Given the description of an element on the screen output the (x, y) to click on. 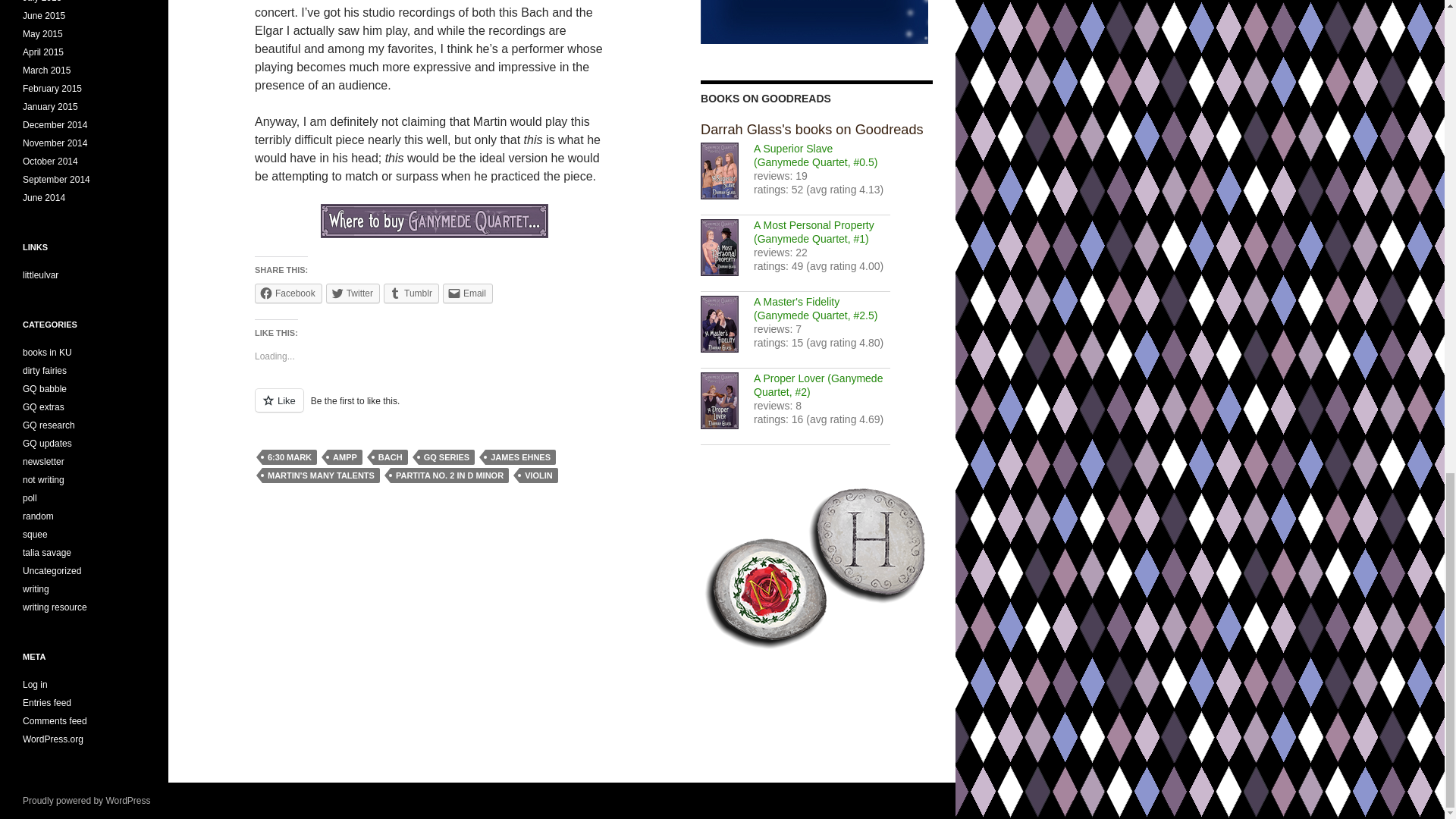
Click to share on Tumblr (411, 293)
Facebook (287, 293)
GQ SERIES (447, 457)
Darrah Glass's books on Goodreads (811, 129)
Click to email a link to a friend (467, 293)
Click to share on Facebook (287, 293)
Twitter (353, 293)
JAMES EHNES (520, 457)
PARTITA NO. 2 IN D MINOR (449, 475)
Like or Reblog (434, 408)
BACH (389, 457)
6:30 MARK (289, 457)
MARTIN'S MANY TALENTS (321, 475)
Click to share on Twitter (353, 293)
Tumblr (411, 293)
